Given the description of an element on the screen output the (x, y) to click on. 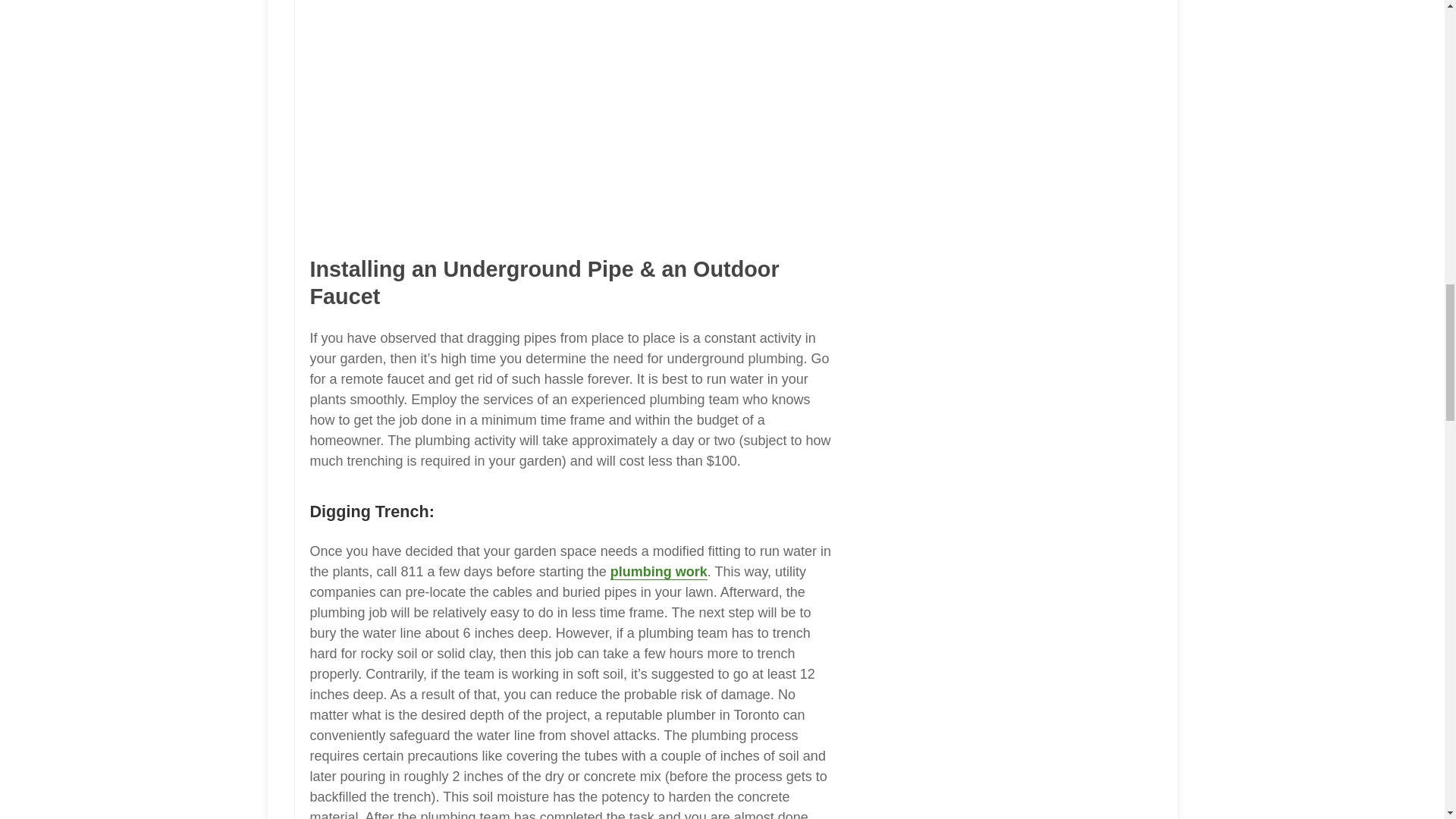
plumbing work (658, 571)
